Given the description of an element on the screen output the (x, y) to click on. 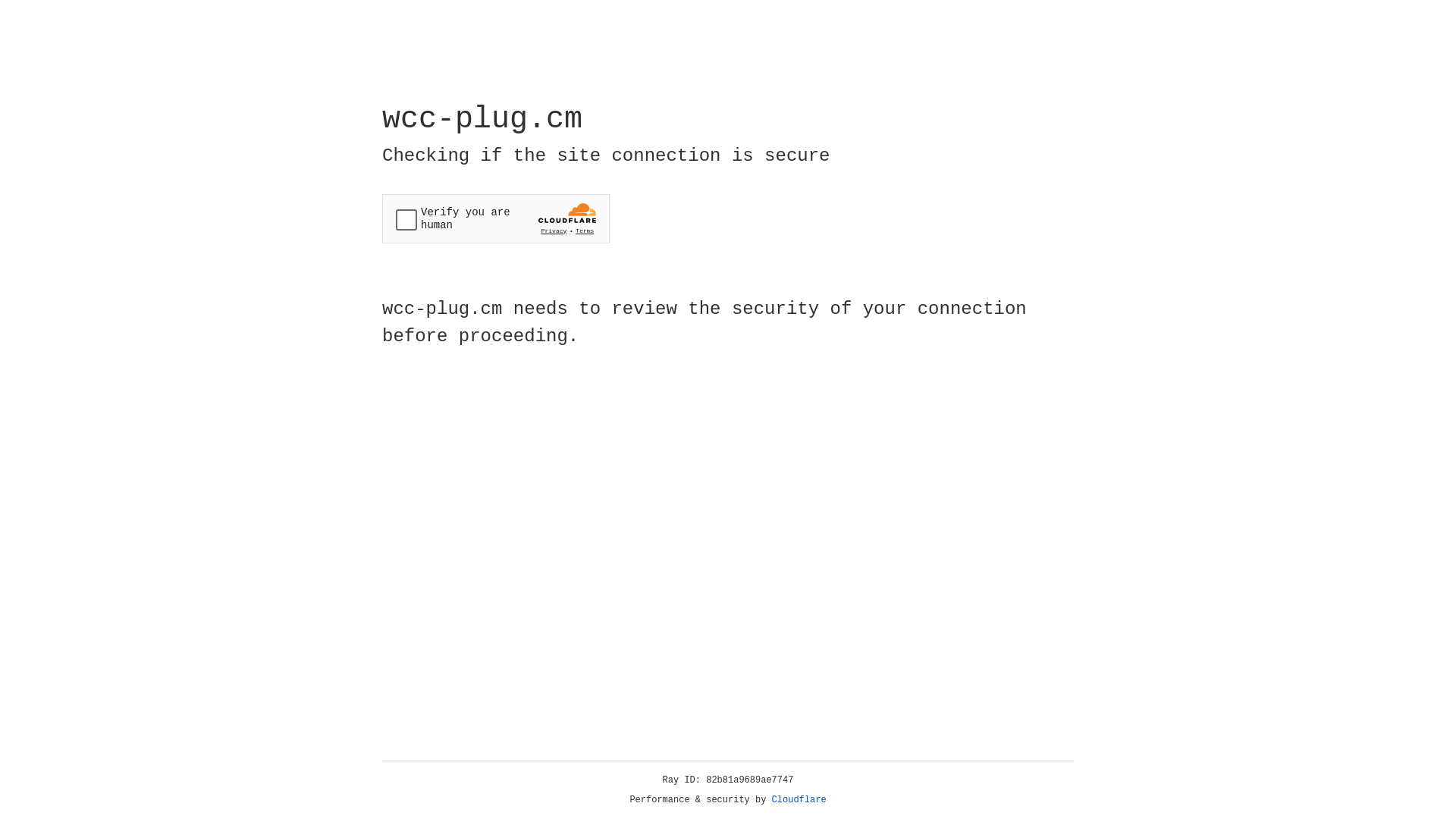
Cloudflare Element type: text (798, 799)
Widget containing a Cloudflare security challenge Element type: hover (495, 218)
